Given the description of an element on the screen output the (x, y) to click on. 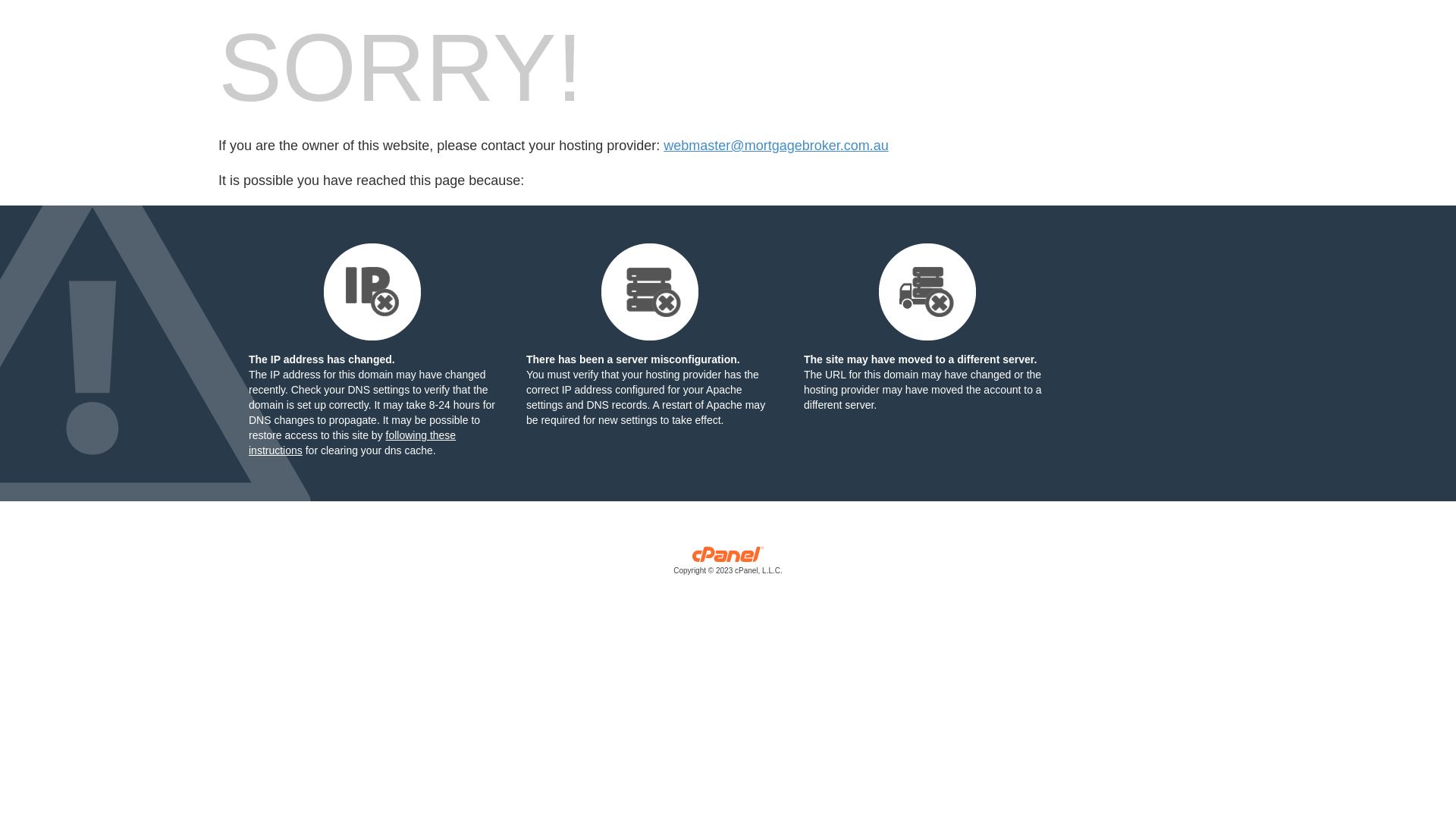
webmaster@mortgagebroker.com.au Element type: text (775, 145)
following these instructions Element type: text (351, 442)
